Given the description of an element on the screen output the (x, y) to click on. 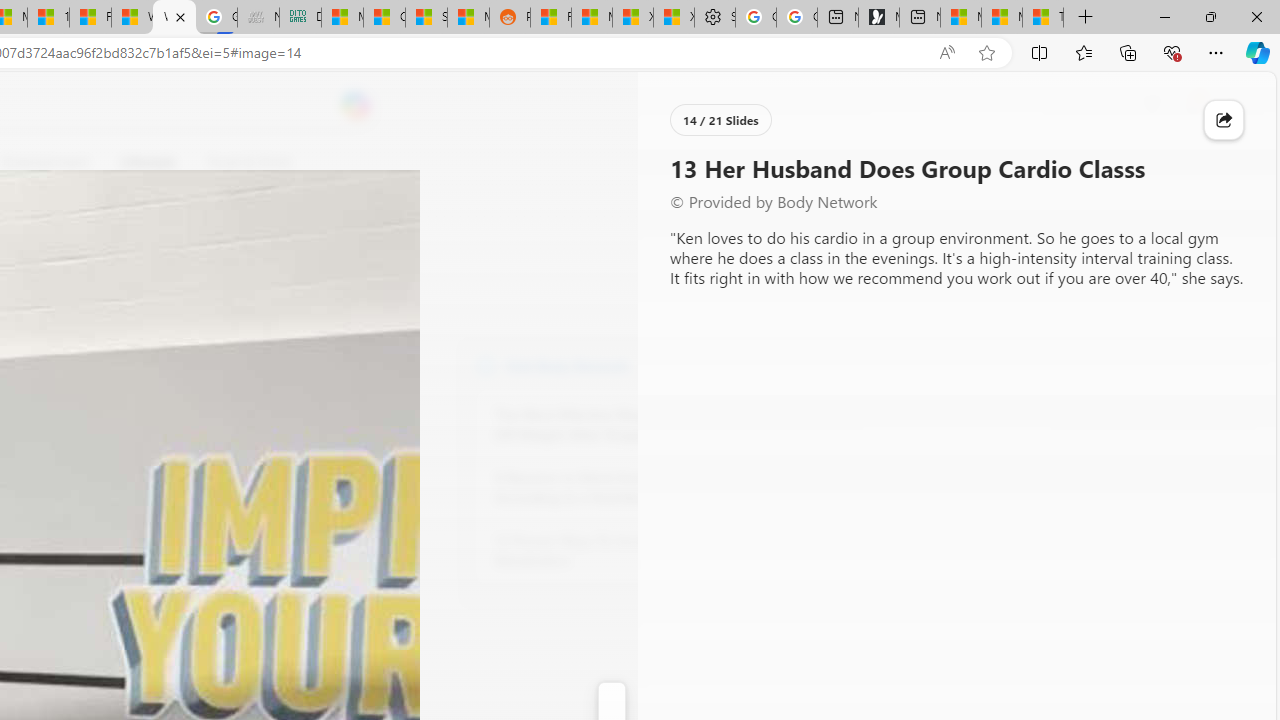
12 Proven Ways To Increase Your Metabolism (603, 550)
14 Common Myths Debunked By Scientific Facts (48, 17)
Go to publisher's site (180, 258)
8 Reasons to Drink Kombucha, According to a Nutritionist (603, 488)
Food & Drink (249, 162)
